Given the description of an element on the screen output the (x, y) to click on. 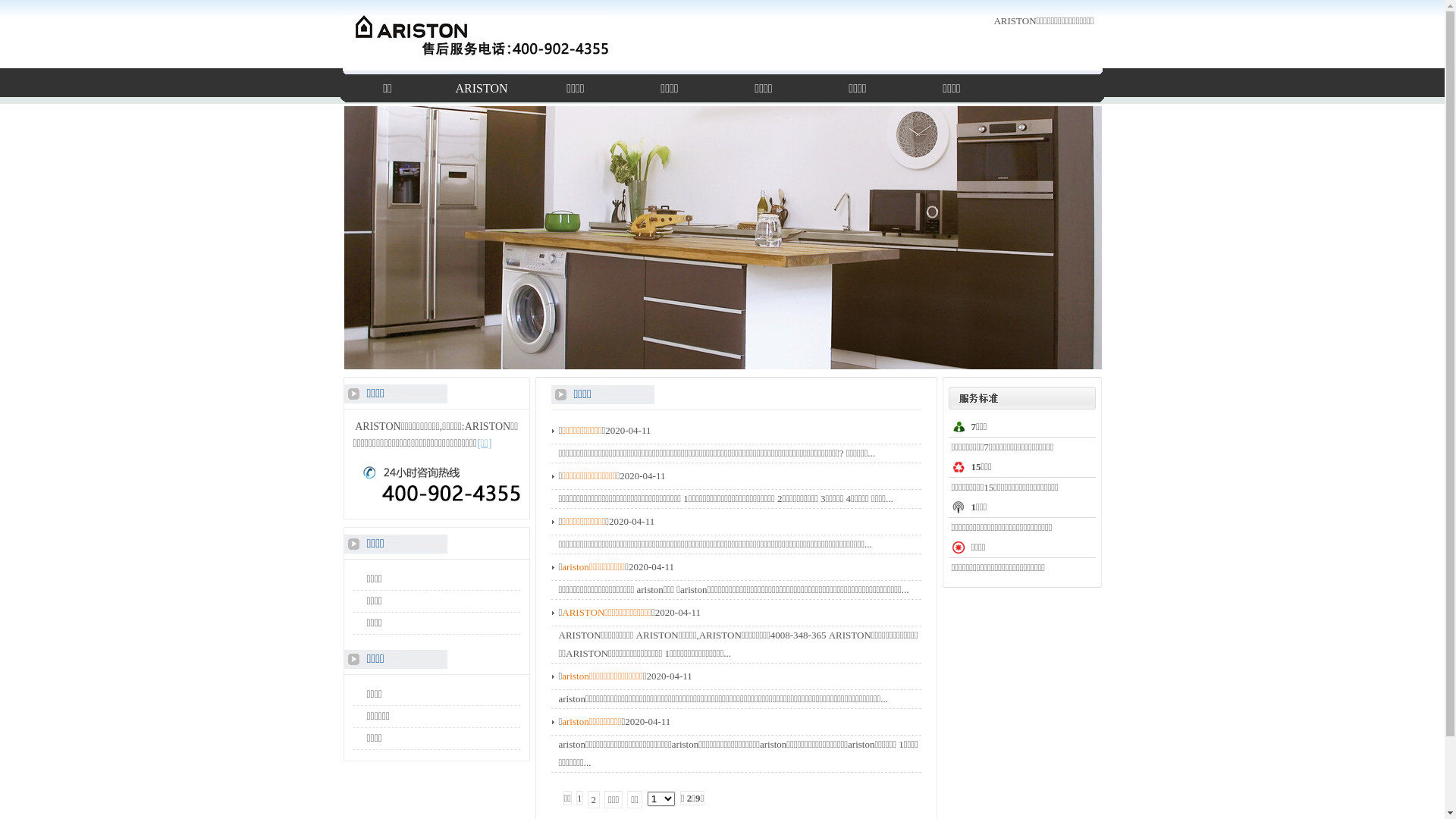
ARISTON Element type: text (481, 88)
2 Element type: text (593, 799)
